Given the description of an element on the screen output the (x, y) to click on. 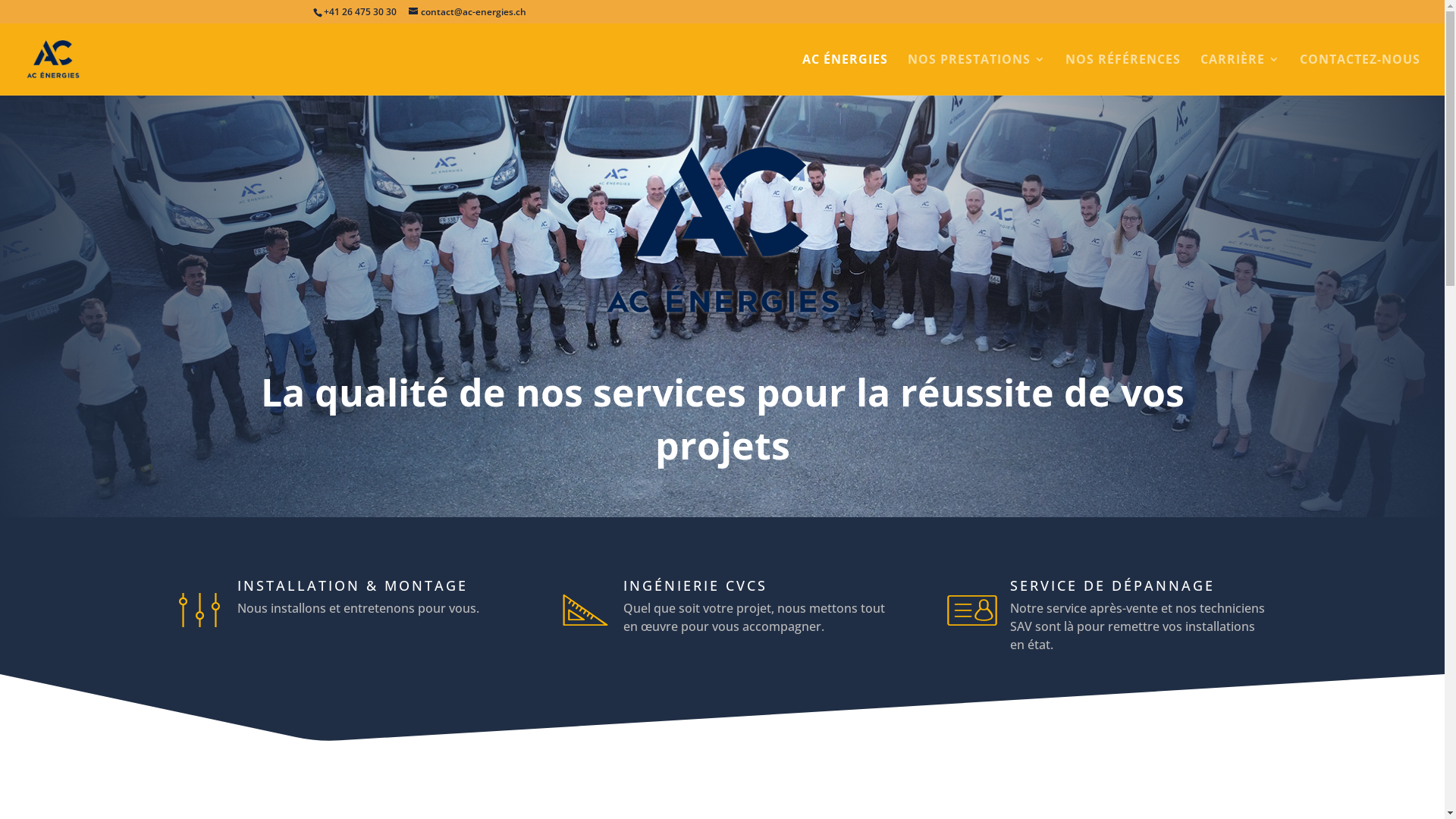
NOS PRESTATIONS Element type: text (976, 73)
contact@ac-energies.ch Element type: text (466, 11)
Beste Slots Bonus Ohne Umsatzbedingungen Element type: text (117, 179)
Bester Schweizer Online Casino Gutscheincode Element type: text (120, 43)
Blackjack Mit Hohen Gewinnen In Der Schweiz 2023 Element type: text (134, 142)
Roulette Online Spiel Casino Element type: text (72, 320)
INSTALLATION & MONTAGE Element type: text (351, 585)
CONTACTEZ-NOUS Element type: text (1359, 73)
